Given the description of an element on the screen output the (x, y) to click on. 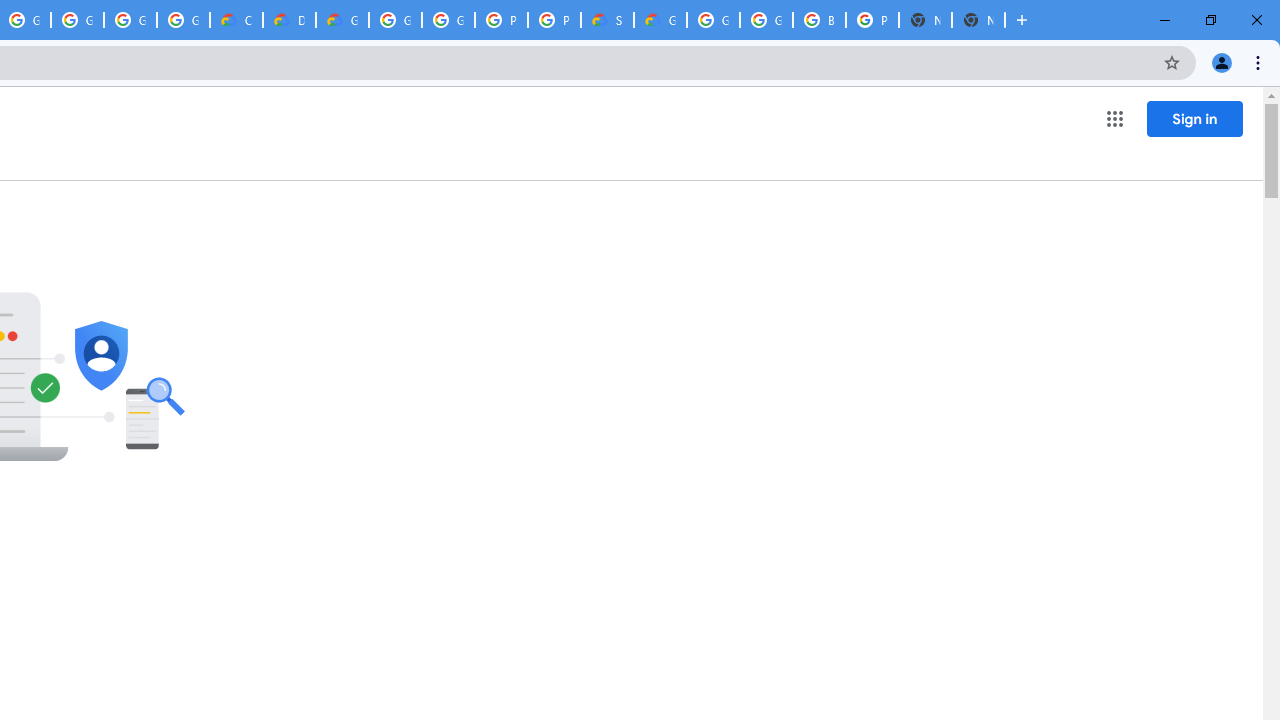
New Tab (978, 20)
Google Workspace - Specific Terms (183, 20)
Google Cloud Platform (448, 20)
Customer Care | Google Cloud (235, 20)
Google Cloud Service Health (660, 20)
Google Cloud Platform (395, 20)
